Given the description of an element on the screen output the (x, y) to click on. 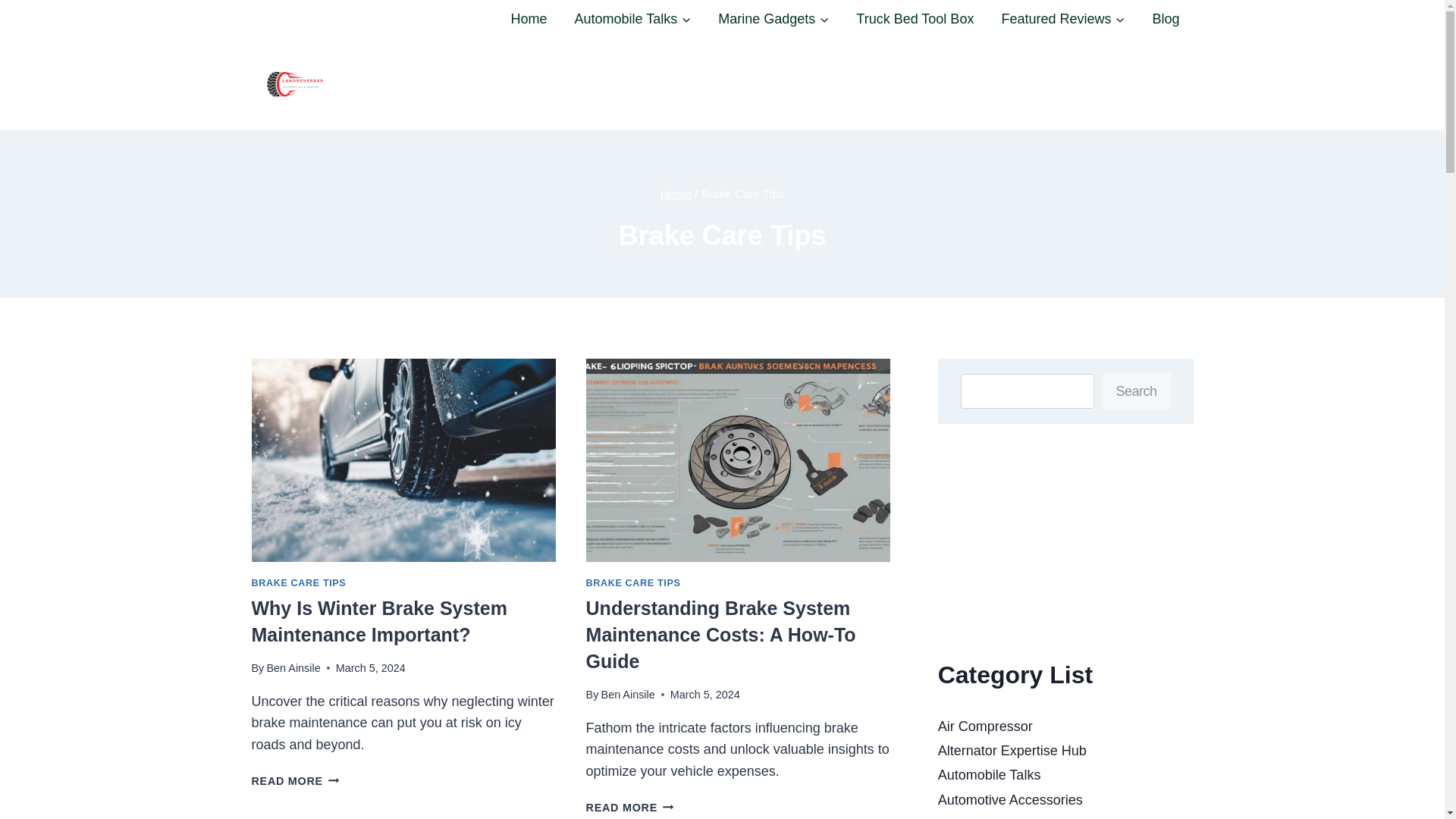
BRAKE CARE TIPS (298, 583)
BRAKE CARE TIPS (295, 780)
Ben Ainsile (633, 583)
Understanding Brake System Maintenance Costs: A How-To Guide (628, 694)
Blog (721, 634)
Ben Ainsile (1165, 18)
Why Is Winter Brake System Maintenance Important? (293, 667)
Home (378, 621)
Automobile Talks (528, 18)
